Given the description of an element on the screen output the (x, y) to click on. 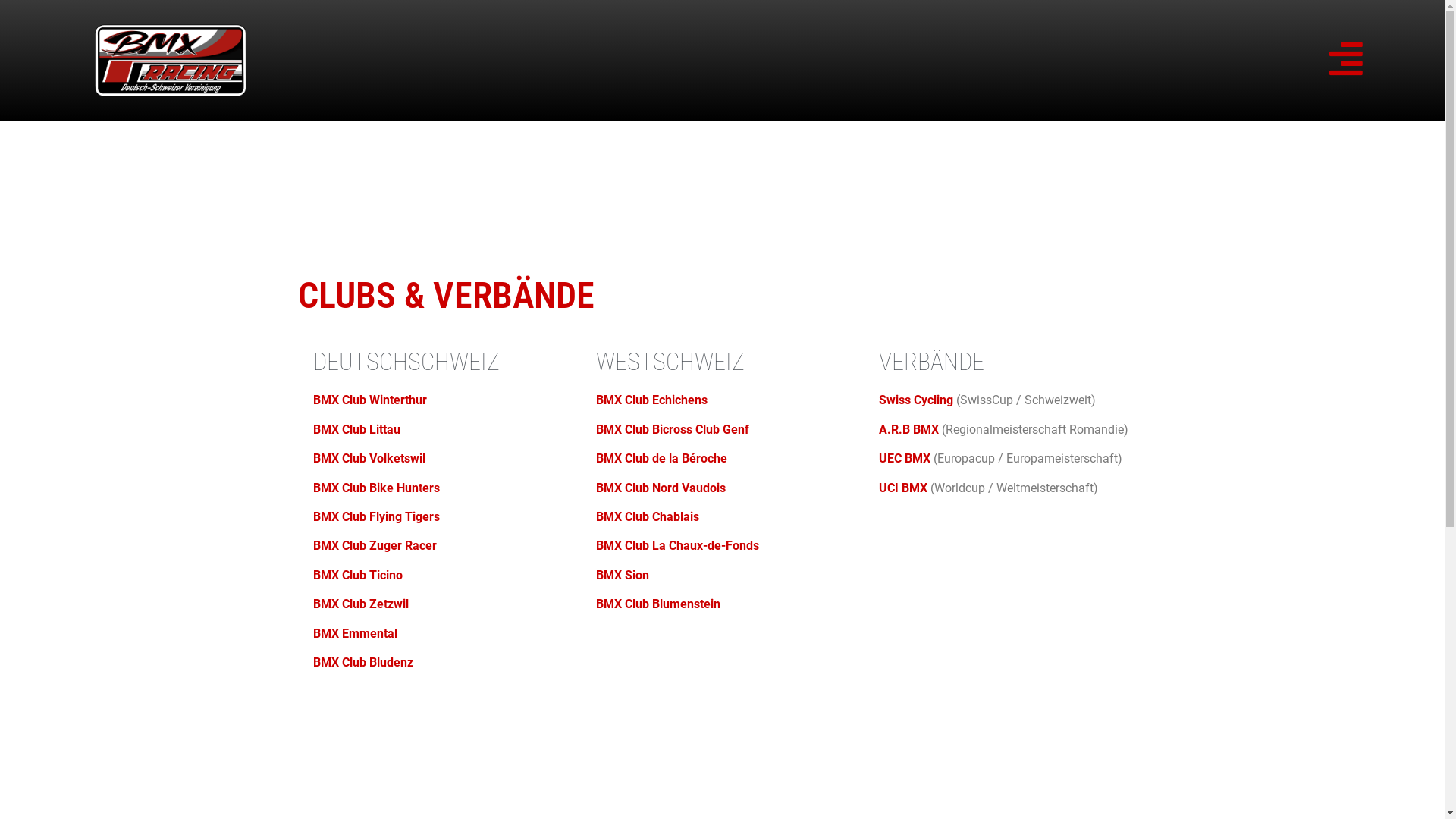
BMX Club Chablais Element type: text (647, 516)
A.R.B BMX Element type: text (908, 429)
BMX Club Zuger Racer Element type: text (374, 545)
BMX Club Bicross Club Genf Element type: text (672, 429)
BMX Club La Chaux-de-Fonds Element type: text (677, 545)
BMX Club Bludenz Element type: text (362, 662)
BMX Club Bike Hunters Element type: text (375, 487)
UEC BMX Element type: text (904, 458)
BMX Club Zetzwil Element type: text (359, 603)
BMX Club Littau Element type: text (355, 429)
BMX Club Echichens Element type: text (651, 399)
BMX Club Blumenstein Element type: text (658, 603)
BMX Club Flying Tigers Element type: text (375, 516)
BMX Club Winterthur Element type: text (369, 399)
BMX Emmental Element type: text (354, 633)
BMX Club Ticino Element type: text (356, 574)
BMX Club Nord Vaudois Element type: text (660, 487)
UCI BMX Element type: text (902, 487)
BMX Club Volketswil Element type: text (368, 458)
BMX Sion Element type: text (622, 574)
Swiss Cycling Element type: text (915, 399)
